Given the description of an element on the screen output the (x, y) to click on. 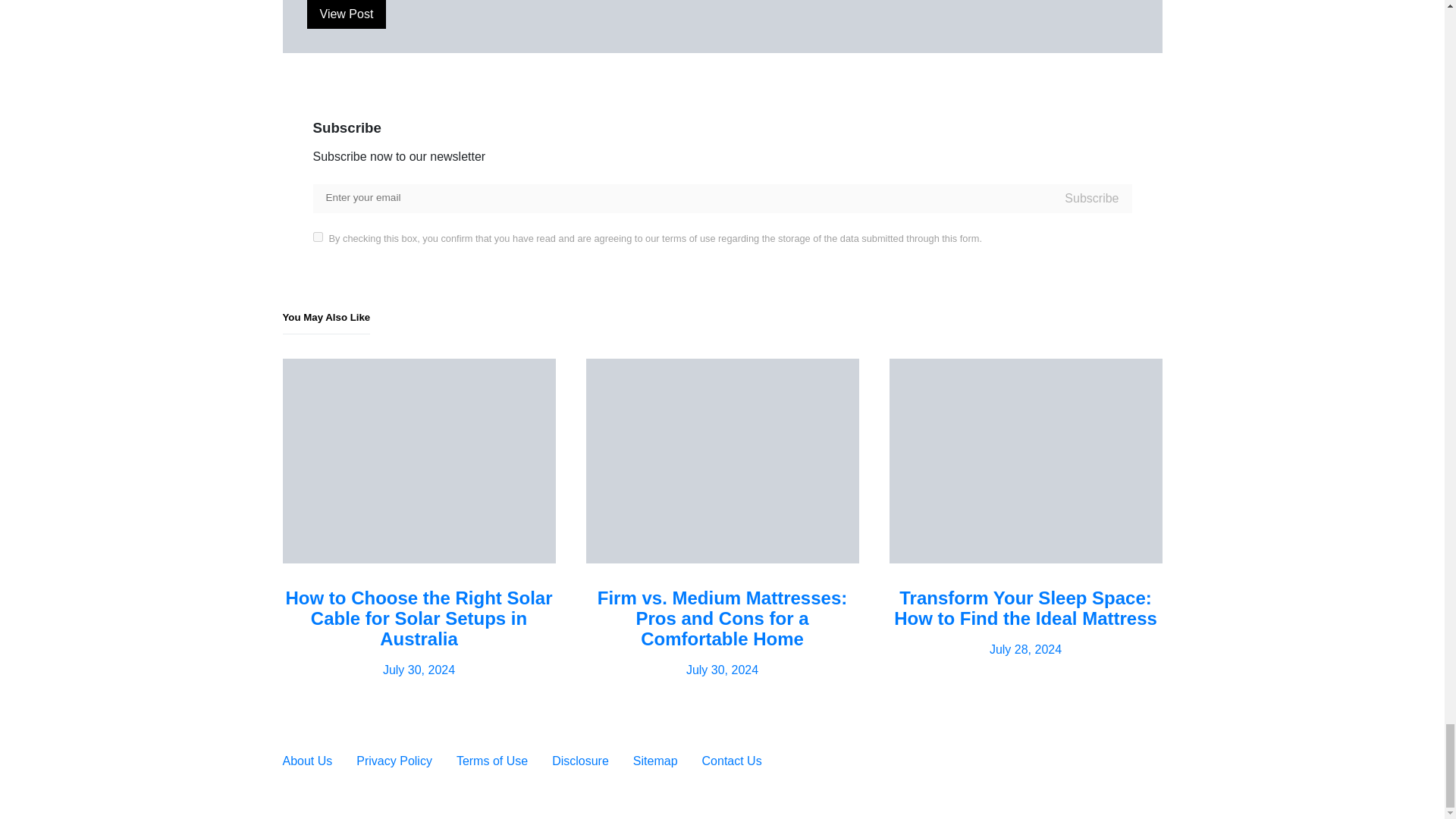
on (317, 236)
